Given the description of an element on the screen output the (x, y) to click on. 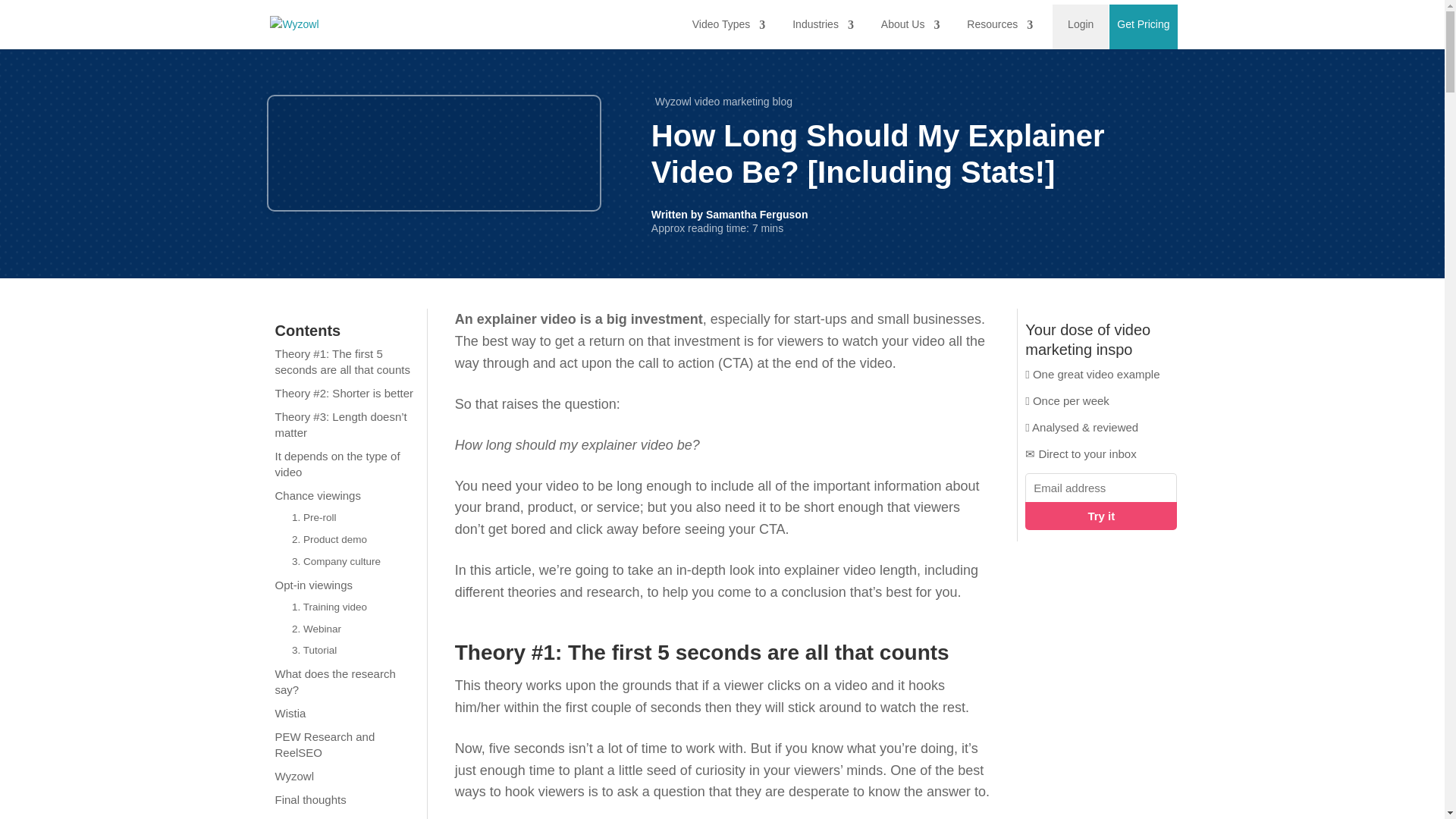
Industries (818, 24)
2. Product demo (354, 540)
Chance viewings (346, 495)
Opt-in viewings (346, 585)
Video Types (724, 24)
3. Tutorial (354, 650)
It depends on the type of video (346, 464)
What does the research say? (346, 681)
About Us (906, 24)
1. Pre-roll (354, 517)
Wistia (346, 712)
2. Webinar (354, 629)
1. Training video (354, 608)
PEW Research and ReelSEO (346, 744)
3. Company culture (354, 562)
